Given the description of an element on the screen output the (x, y) to click on. 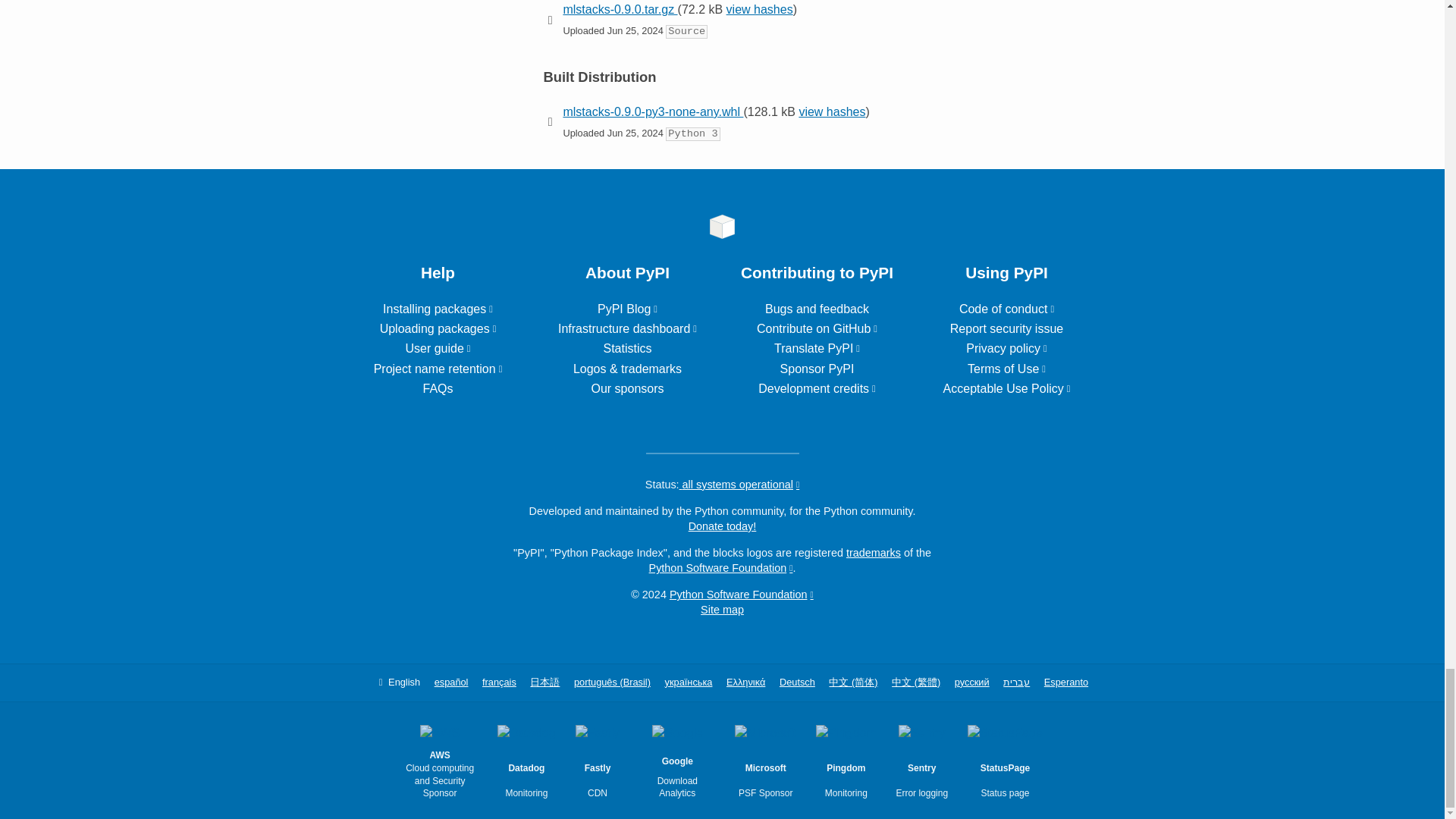
External link (437, 308)
External link (438, 368)
External link (437, 348)
External link (817, 388)
External link (627, 328)
External link (817, 328)
External link (627, 308)
External link (817, 348)
External link (438, 328)
